Given the description of an element on the screen output the (x, y) to click on. 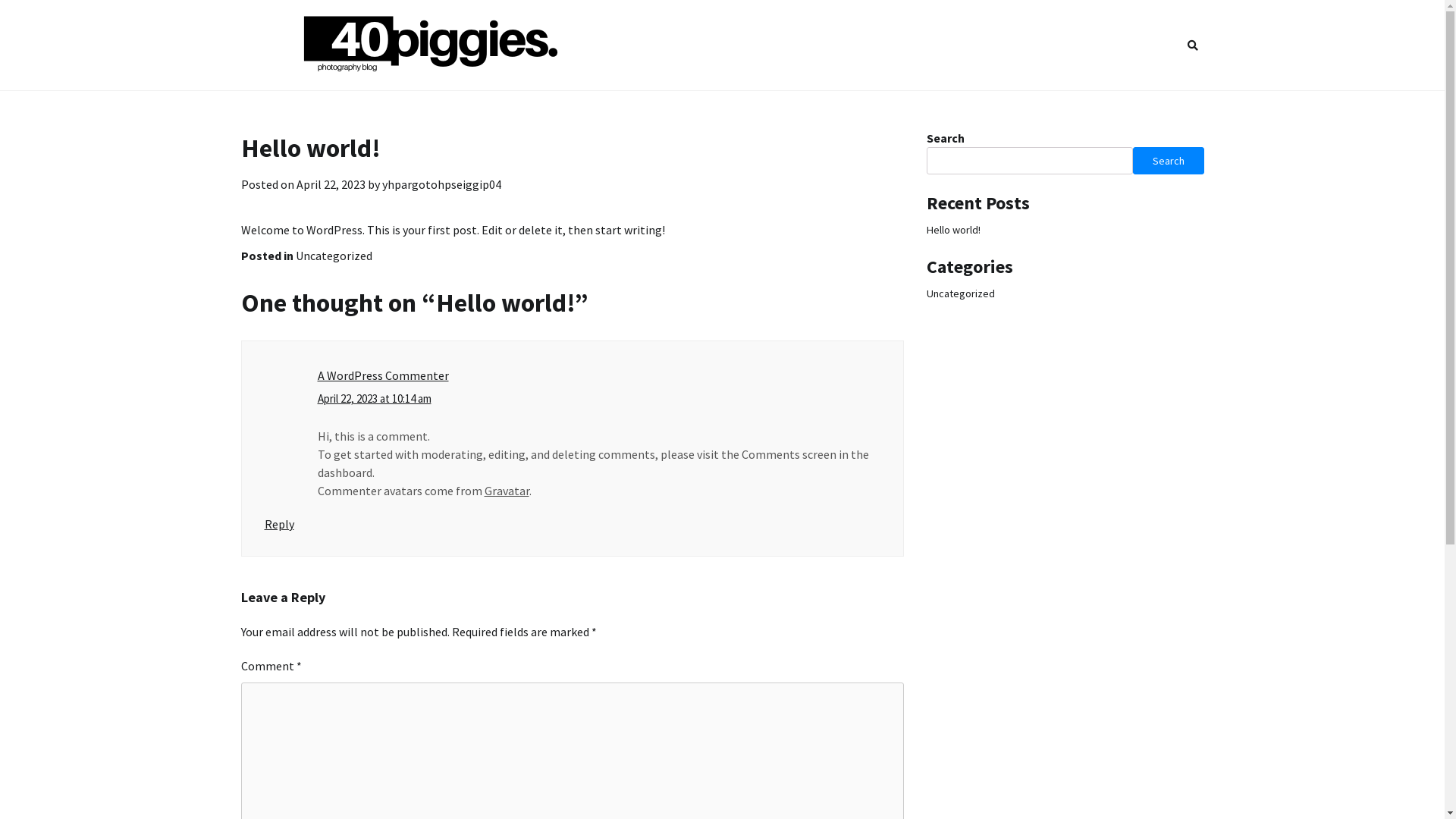
Uncategorized Element type: text (333, 255)
yhpargotohpseiggip04 Element type: text (441, 183)
Search Element type: hover (1192, 44)
Hello world! Element type: text (953, 229)
Reply Element type: text (278, 523)
April 22, 2023 at 10:14 am Element type: text (373, 398)
Uncategorized Element type: text (960, 293)
Search Element type: text (1168, 160)
Gravatar Element type: text (505, 490)
April 22, 2023 Element type: text (329, 183)
A WordPress Commenter Element type: text (382, 374)
Search Element type: text (1164, 80)
